Given the description of an element on the screen output the (x, y) to click on. 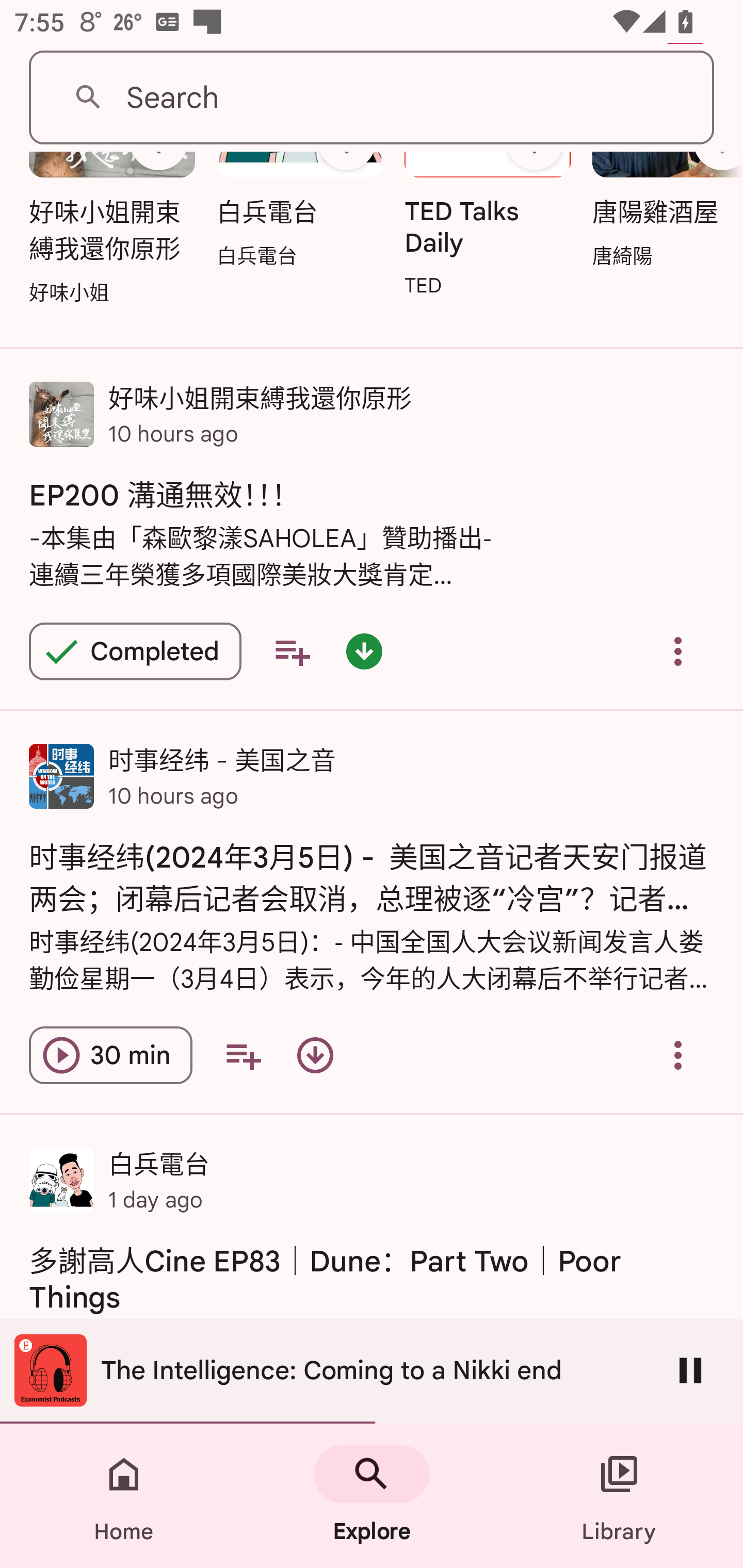
Search (371, 97)
好味小姐開束縛我還你原形 Subscribe 好味小姐開束縛我還你原形 好味小姐 (111, 235)
白兵電台 Subscribe 白兵電台 白兵電台 (299, 217)
TED Talks Daily Subscribe TED Talks Daily TED (487, 231)
唐陽雞酒屋 Subscribe 唐陽雞酒屋 唐綺陽 (662, 217)
Play episode EP200 溝通無效！！！ Completed (134, 651)
Add to your queue (291, 651)
Episode downloaded - double tap for options (364, 651)
Overflow menu (677, 651)
Add to your queue (242, 1055)
Download episode (315, 1055)
Overflow menu (677, 1055)
Pause (690, 1370)
Home (123, 1495)
Library (619, 1495)
